Given the description of an element on the screen output the (x, y) to click on. 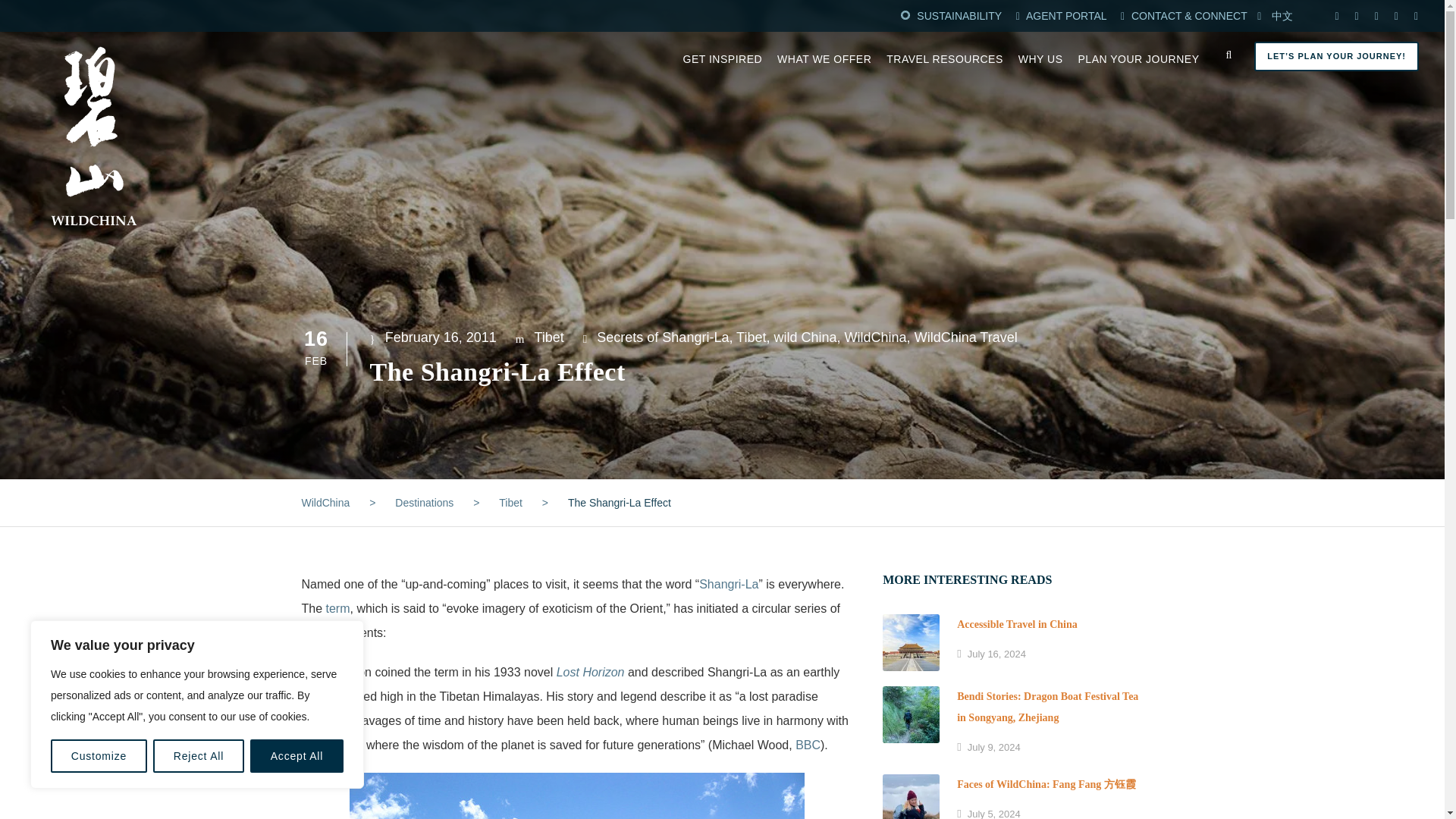
WHAT WE OFFER (823, 68)
Customize (98, 756)
Reject All (198, 756)
Go to the Tibet Category archives. (510, 502)
twitter (1376, 15)
instagram (1415, 15)
Go to the Destinations Category archives. (423, 502)
AGENT PORTAL (1067, 15)
a4fde882-91b0-4b3b-848c-2ac0b4d8eb80 (910, 714)
7d2350e6-4a49-4fe5-9efb-1f2831e51be4 (910, 796)
Go to WildChina. (325, 502)
The Forbidden City, Beijing, China (910, 642)
Accept All (296, 756)
SUSTAINABILITY (959, 15)
GET INSPIRED (722, 68)
